Given the description of an element on the screen output the (x, y) to click on. 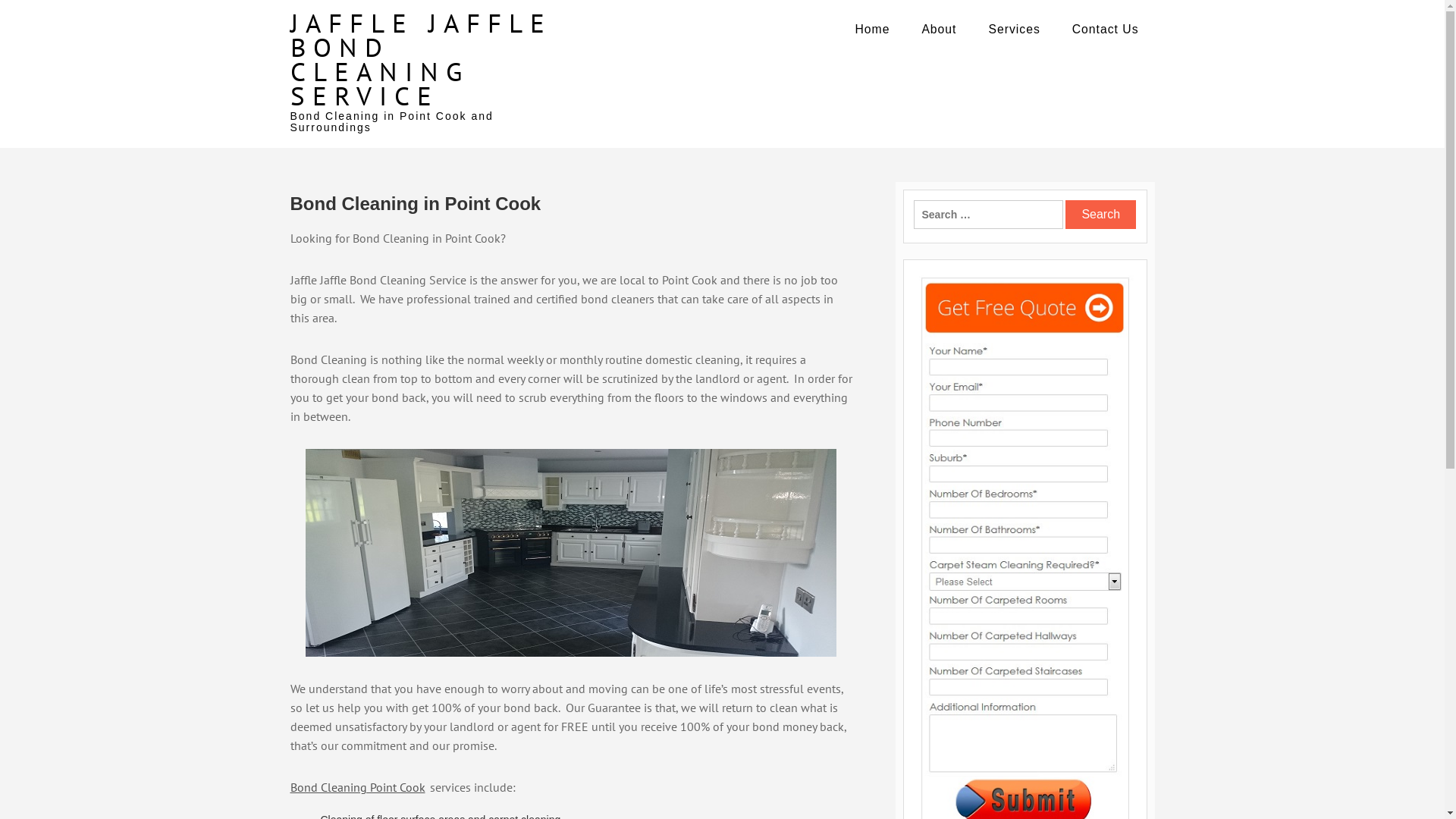
About Element type: text (938, 29)
JAFFLE JAFFLE BOND CLEANING SERVICE Element type: text (420, 58)
Home Element type: text (872, 29)
Bond Cleaning Point Cook Element type: text (357, 786)
Contact Us Element type: text (1105, 29)
Services Element type: text (1013, 29)
Search Element type: text (1100, 214)
